Given the description of an element on the screen output the (x, y) to click on. 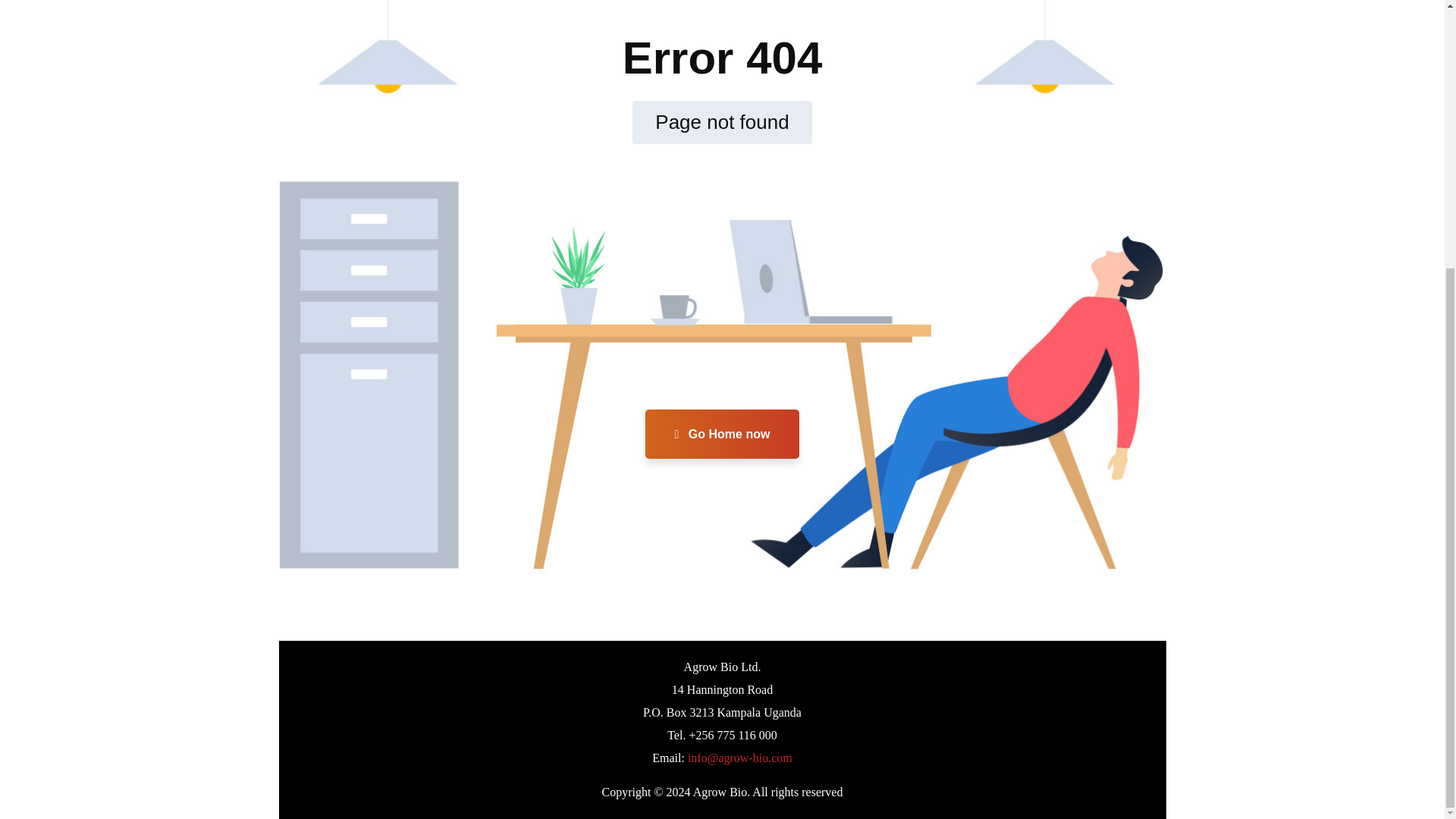
Go Home now (722, 433)
